Given the description of an element on the screen output the (x, y) to click on. 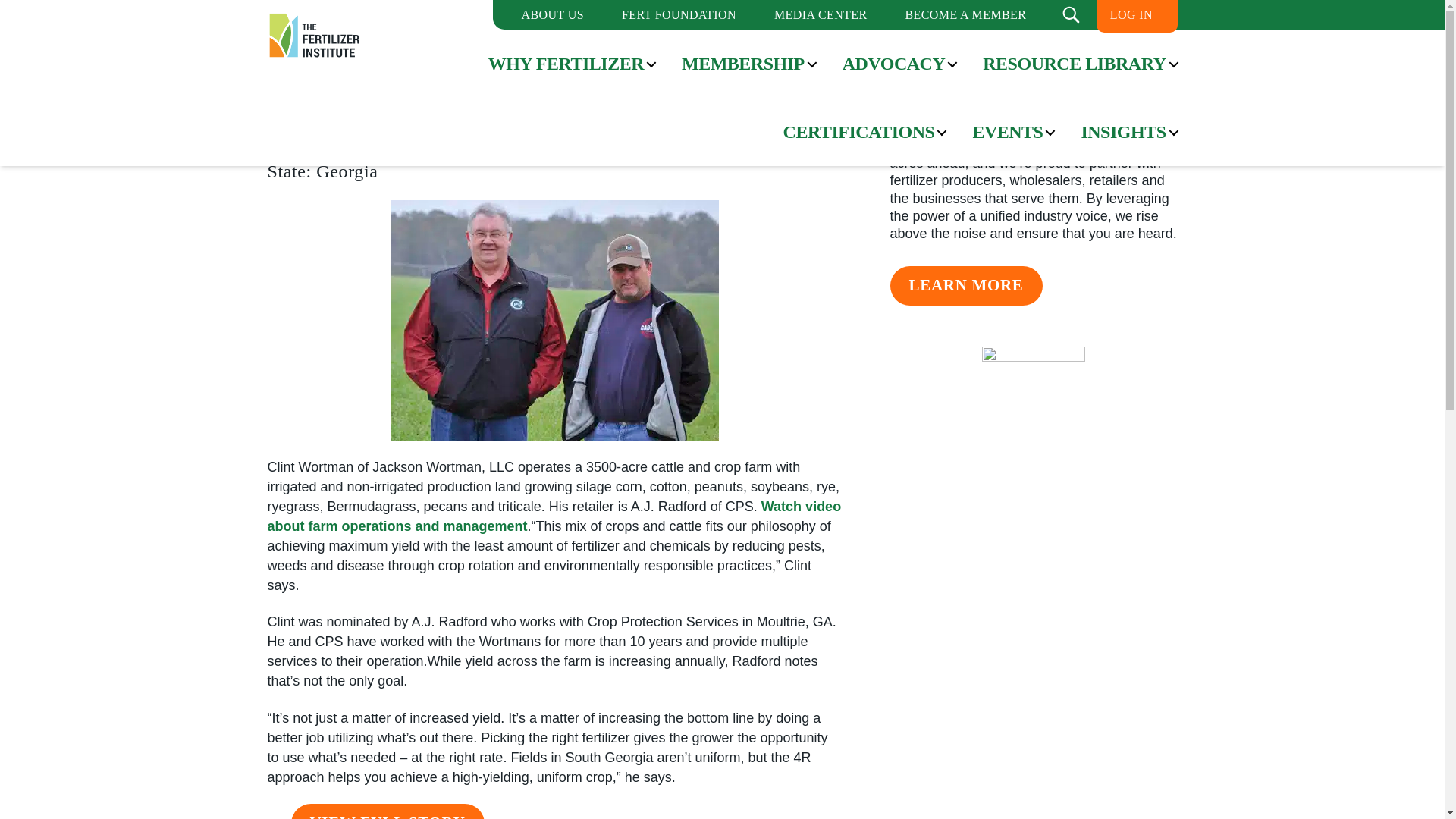
ADVOCACY (893, 64)
FERT FOUNDATION (678, 14)
Go to Advocates. (442, 16)
Go to The Fertilizer Institute. (289, 16)
LOG IN (1131, 14)
BECOME A MEMBER (965, 14)
MEMBERSHIP (743, 64)
Go to Advocacy. (357, 16)
WHY FERTILIZER (565, 64)
ABOUT US (552, 14)
